Given the description of an element on the screen output the (x, y) to click on. 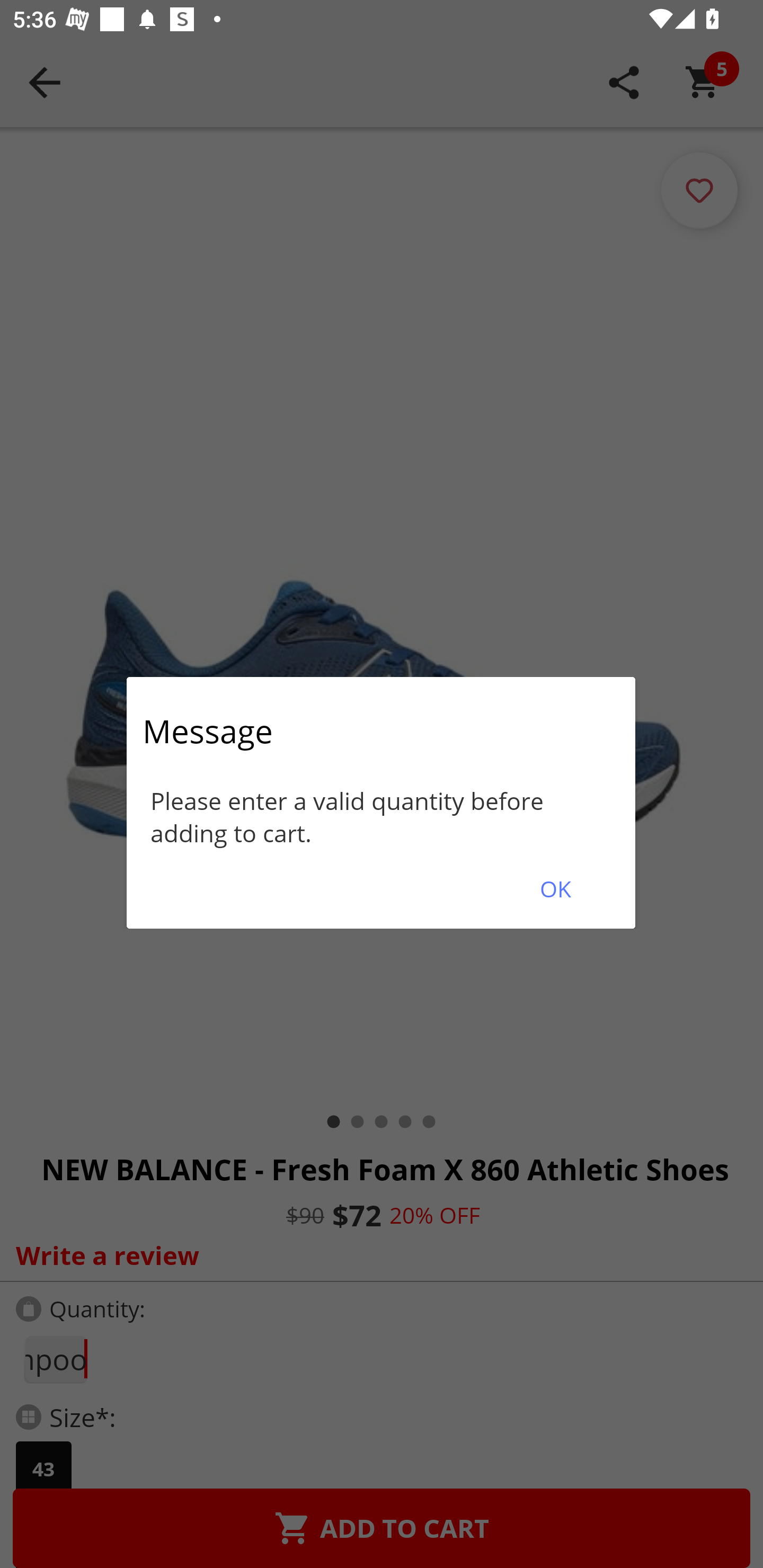
OK (555, 888)
